Given the description of an element on the screen output the (x, y) to click on. 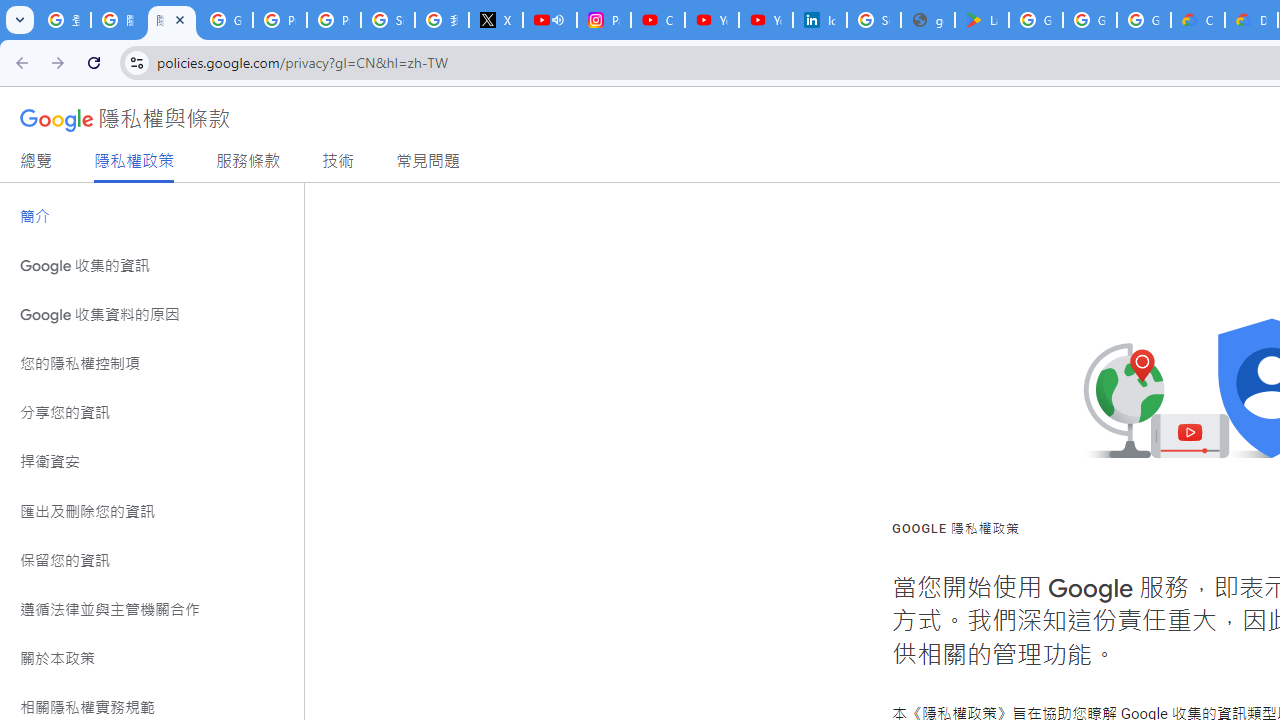
YouTube Culture & Trends - YouTube Top 10, 2021 (765, 20)
